Given the description of an element on the screen output the (x, y) to click on. 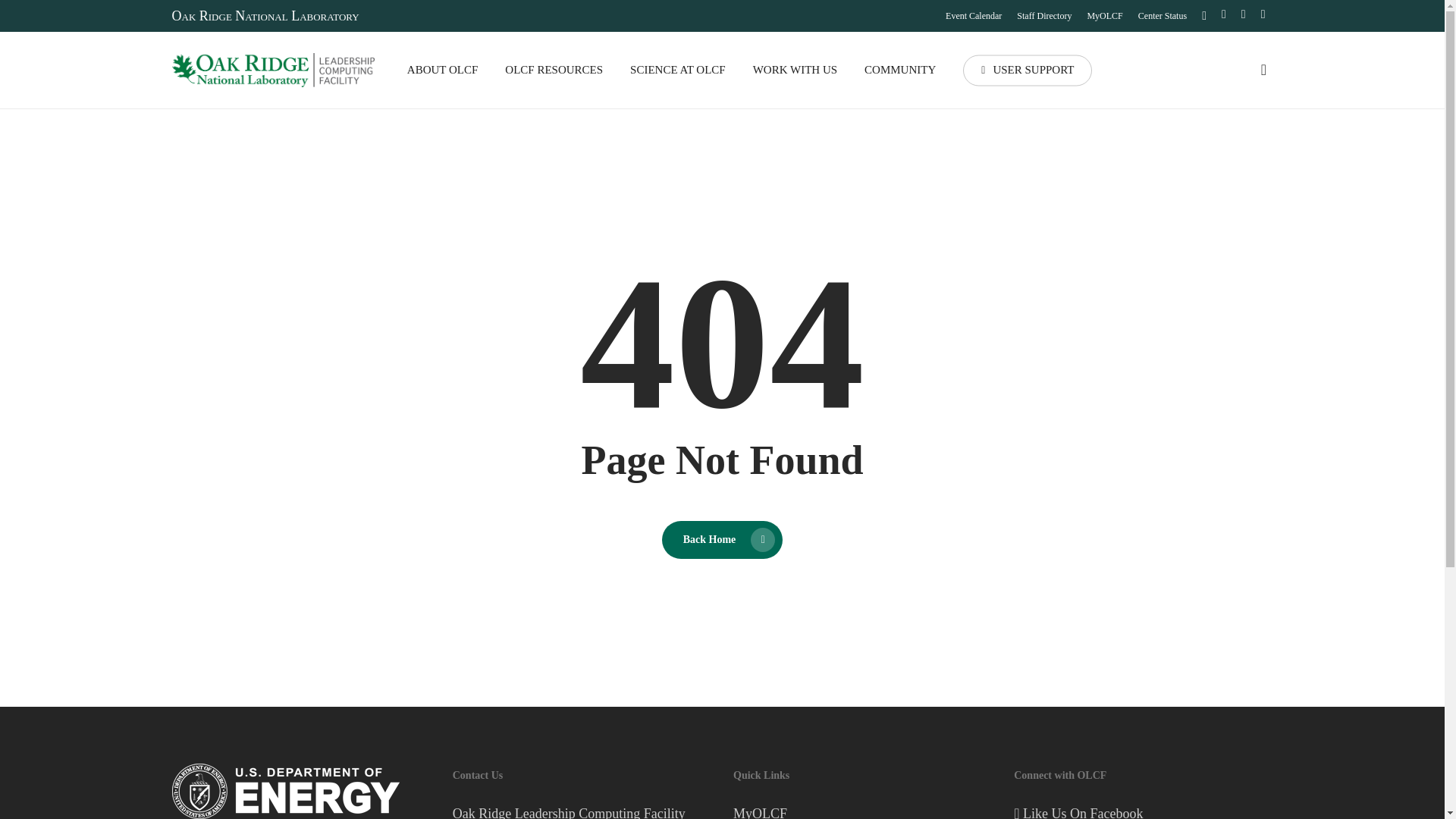
OLCF RESOURCES (553, 69)
Staff Directory (1043, 15)
ABOUT OLCF (443, 69)
MyOLCF (1104, 15)
Event Calendar (972, 15)
SCIENCE AT OLCF (677, 69)
Center Status (1162, 15)
Oak Ridge National Laboratory (264, 15)
